Given the description of an element on the screen output the (x, y) to click on. 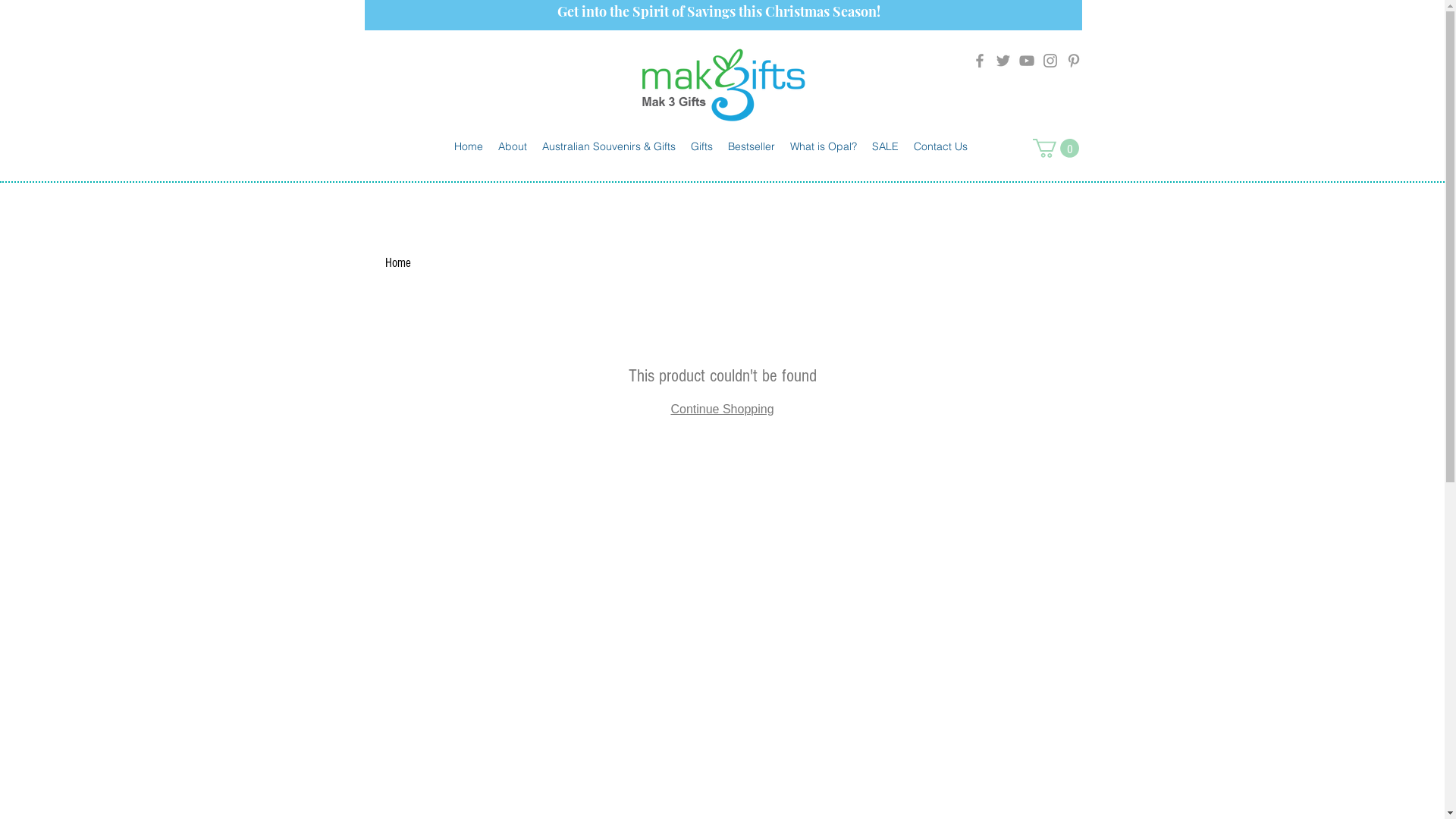
Continue Shopping Element type: text (721, 408)
Site Search Element type: hover (1006, 94)
Bestseller Element type: text (751, 145)
What is Opal? Element type: text (823, 145)
0 Element type: text (1055, 147)
mak3gifts-logo-2.png Element type: hover (722, 85)
Gifts Element type: text (700, 145)
Embedded Content Element type: hover (469, 72)
About Element type: text (511, 145)
Embedded Content Element type: hover (455, 56)
Home Element type: text (398, 262)
Home Element type: text (467, 145)
Contact Us Element type: text (939, 145)
SALE Element type: text (885, 145)
Australian Souvenirs & Gifts Element type: text (607, 145)
